Given the description of an element on the screen output the (x, y) to click on. 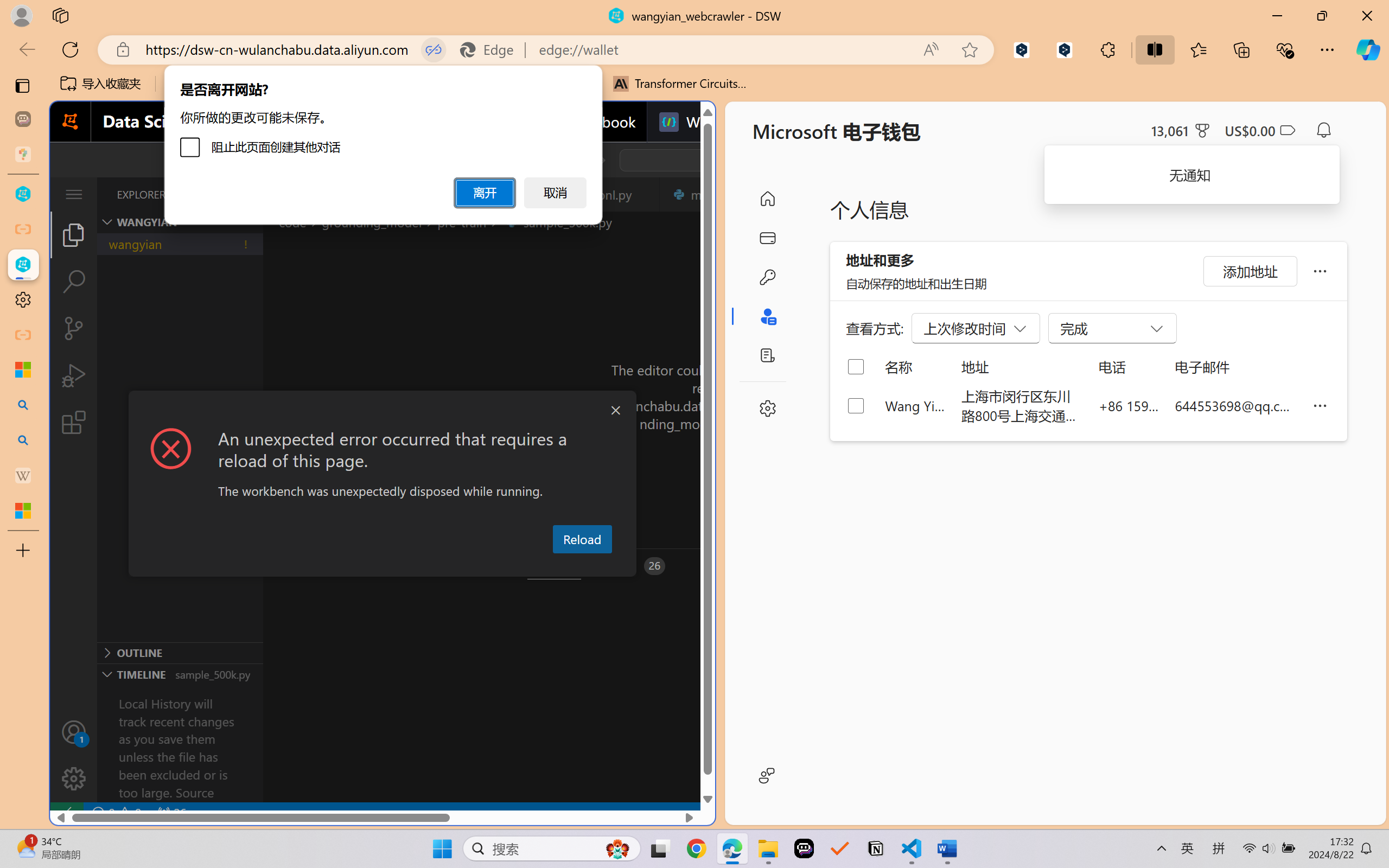
Class: actions-container (381, 410)
Source Control (Ctrl+Shift+G) (73, 328)
Explorer (Ctrl+Shift+E) (73, 234)
Microsoft security help and learning (22, 369)
Debug Console (Ctrl+Shift+Y) (463, 565)
